Given the description of an element on the screen output the (x, y) to click on. 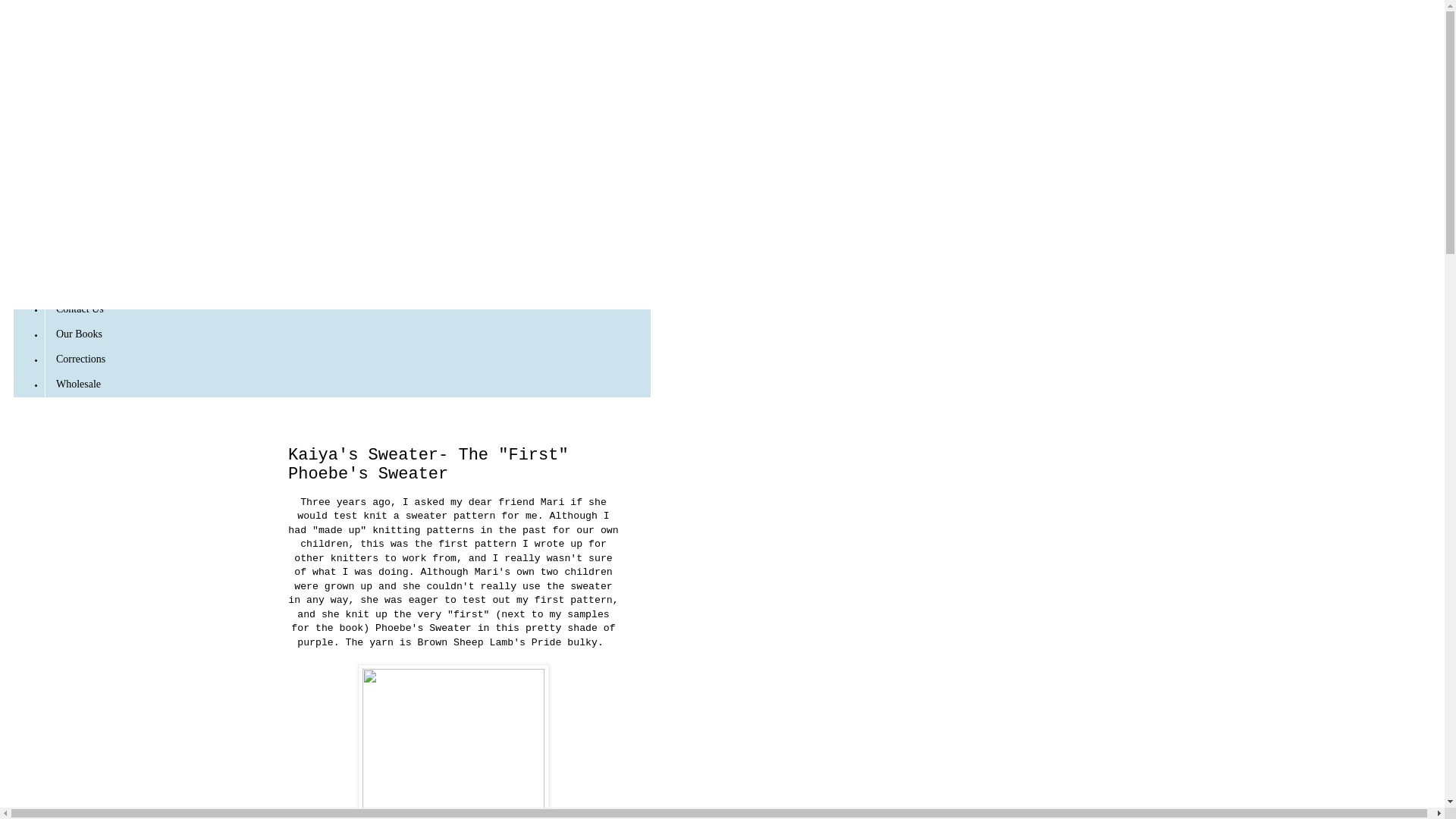
Contact Us (80, 309)
Corrections (80, 358)
About Us (76, 235)
Our Books (79, 334)
Home (69, 185)
Interviews (78, 284)
Shop (66, 210)
Reviews (74, 259)
Wholesale (78, 383)
